Given the description of an element on the screen output the (x, y) to click on. 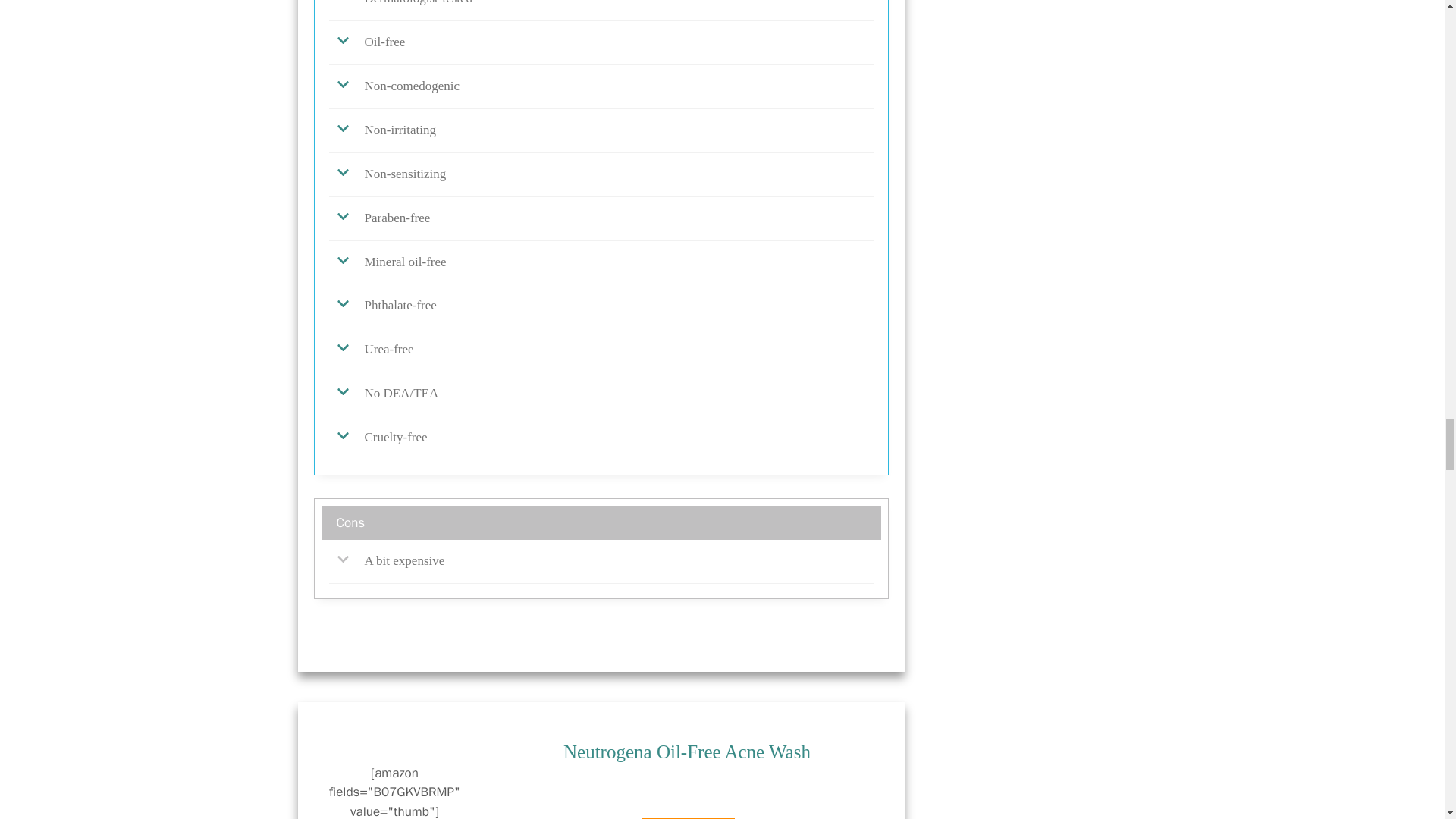
amazon (688, 809)
